Given the description of an element on the screen output the (x, y) to click on. 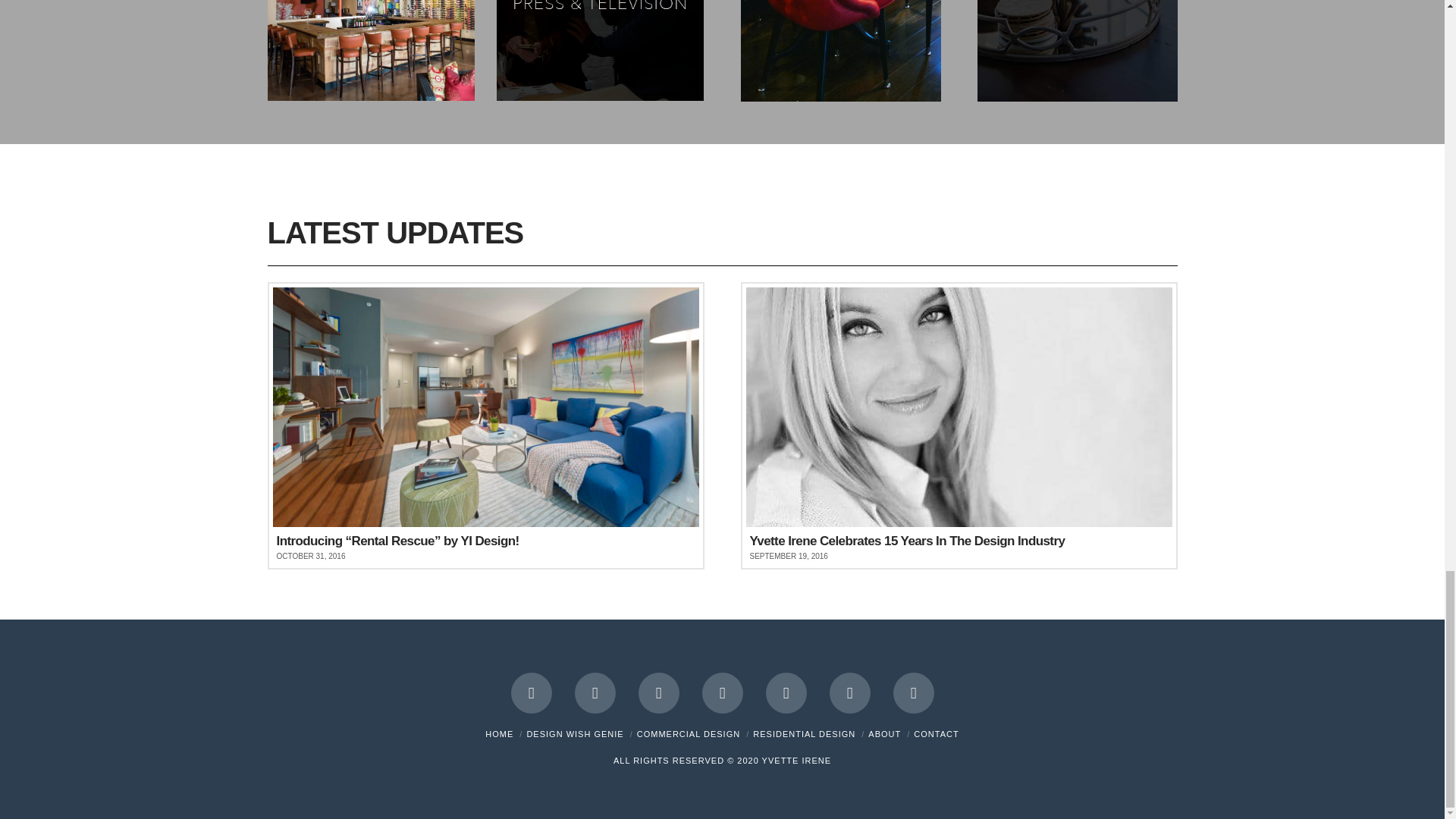
Flickr (913, 692)
Facebook (531, 692)
COMMERCIAL DESIGN (688, 733)
YouTube (785, 692)
CONTACT (936, 733)
RESIDENTIAL DESIGN (804, 733)
DESIGN WISH GENIE (574, 733)
HOME (498, 733)
